Given the description of an element on the screen output the (x, y) to click on. 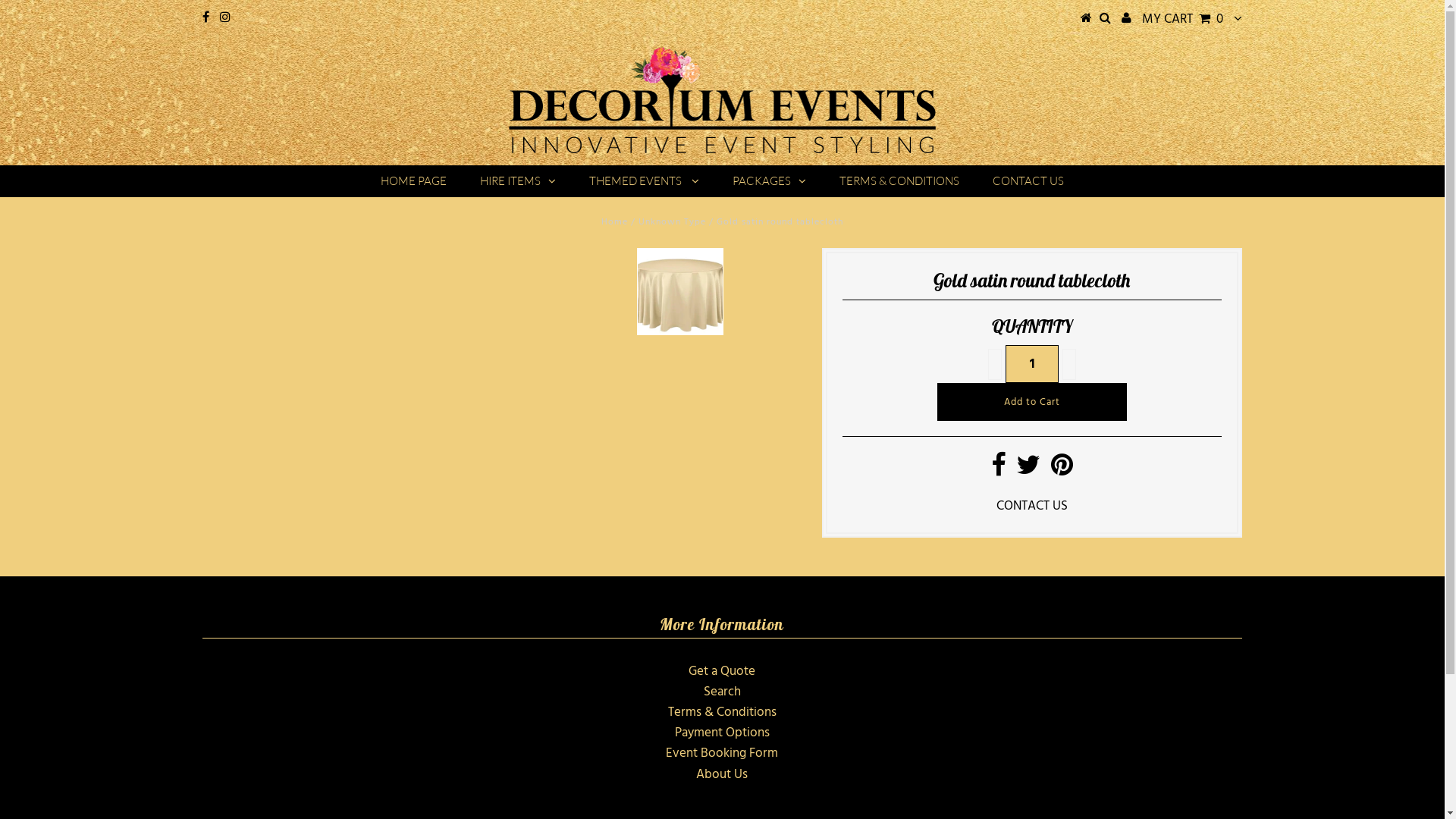
Home Element type: text (614, 221)
Get a Quote Element type: text (721, 671)
CONTACT US Element type: text (1031, 505)
Search Element type: text (721, 691)
TERMS & CONDITIONS Element type: text (899, 181)
THEMED EVENTS Element type: text (644, 181)
CONTACT US Element type: text (1028, 181)
Terms & Conditions Element type: text (722, 712)
Add to Cart Element type: text (1031, 401)
About Us Element type: text (721, 774)
PACKAGES Element type: text (769, 181)
HIRE ITEMS Element type: text (517, 181)
MY CART    0 Element type: text (1182, 19)
Event Booking Form Element type: text (721, 753)
Share on Pinterest Element type: hover (1062, 470)
Share on Facebook Element type: hover (998, 470)
Share on Twitter Element type: hover (1028, 470)
Payment Options Element type: text (721, 732)
HOME PAGE Element type: text (413, 181)
